Given the description of an element on the screen output the (x, y) to click on. 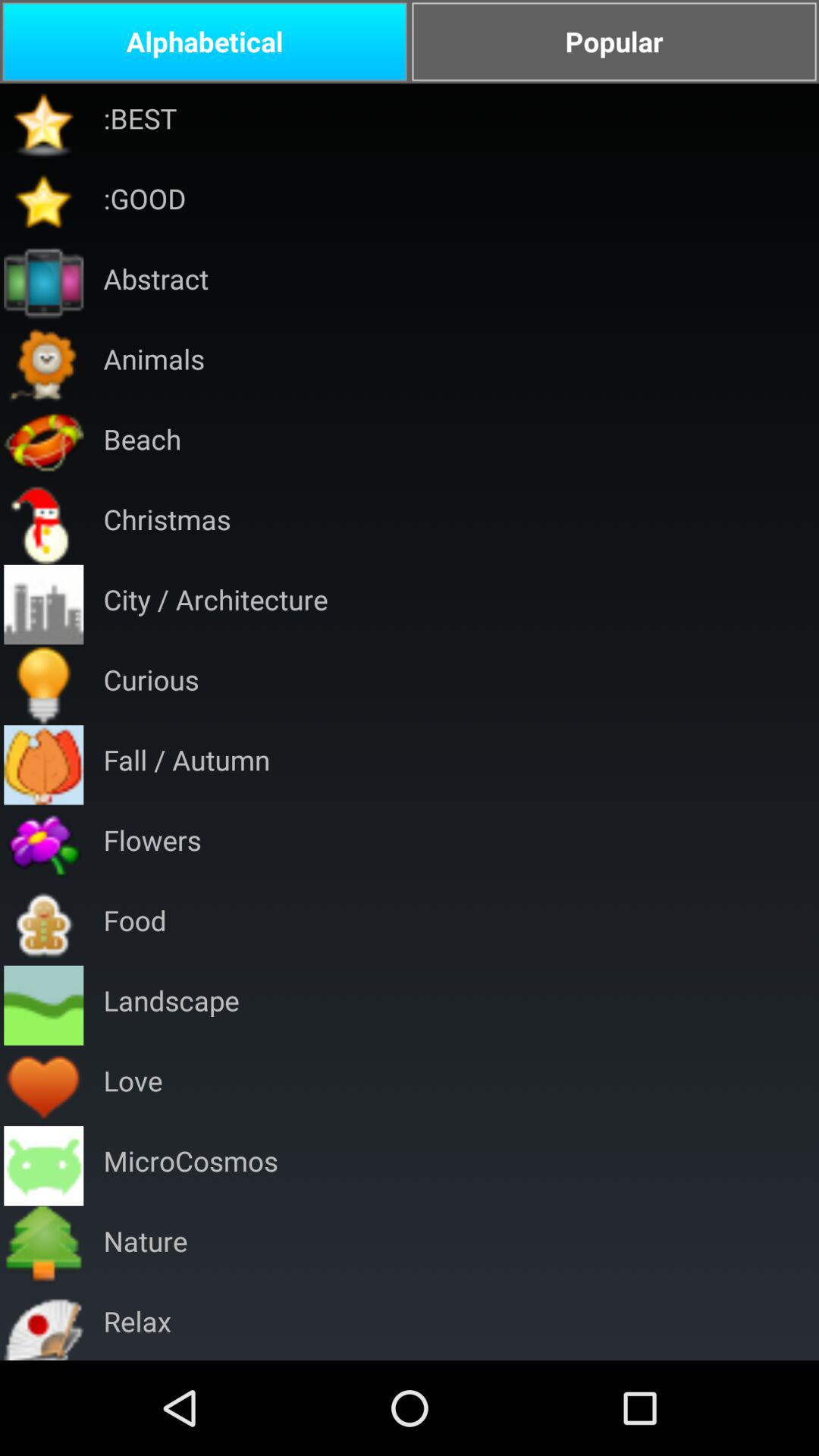
swipe to the curious icon (150, 684)
